Given the description of an element on the screen output the (x, y) to click on. 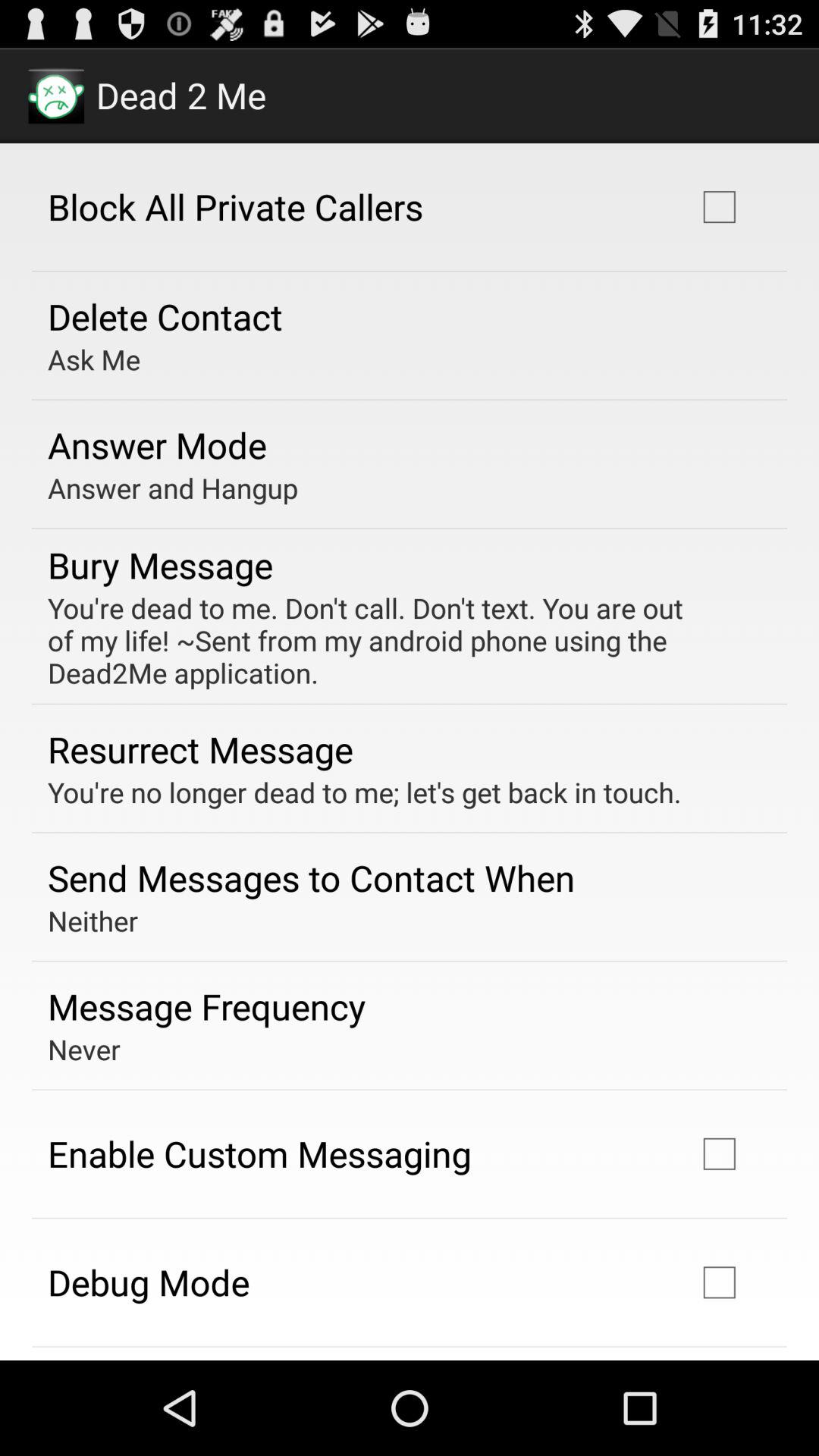
click the send messages to item (311, 877)
